Given the description of an element on the screen output the (x, y) to click on. 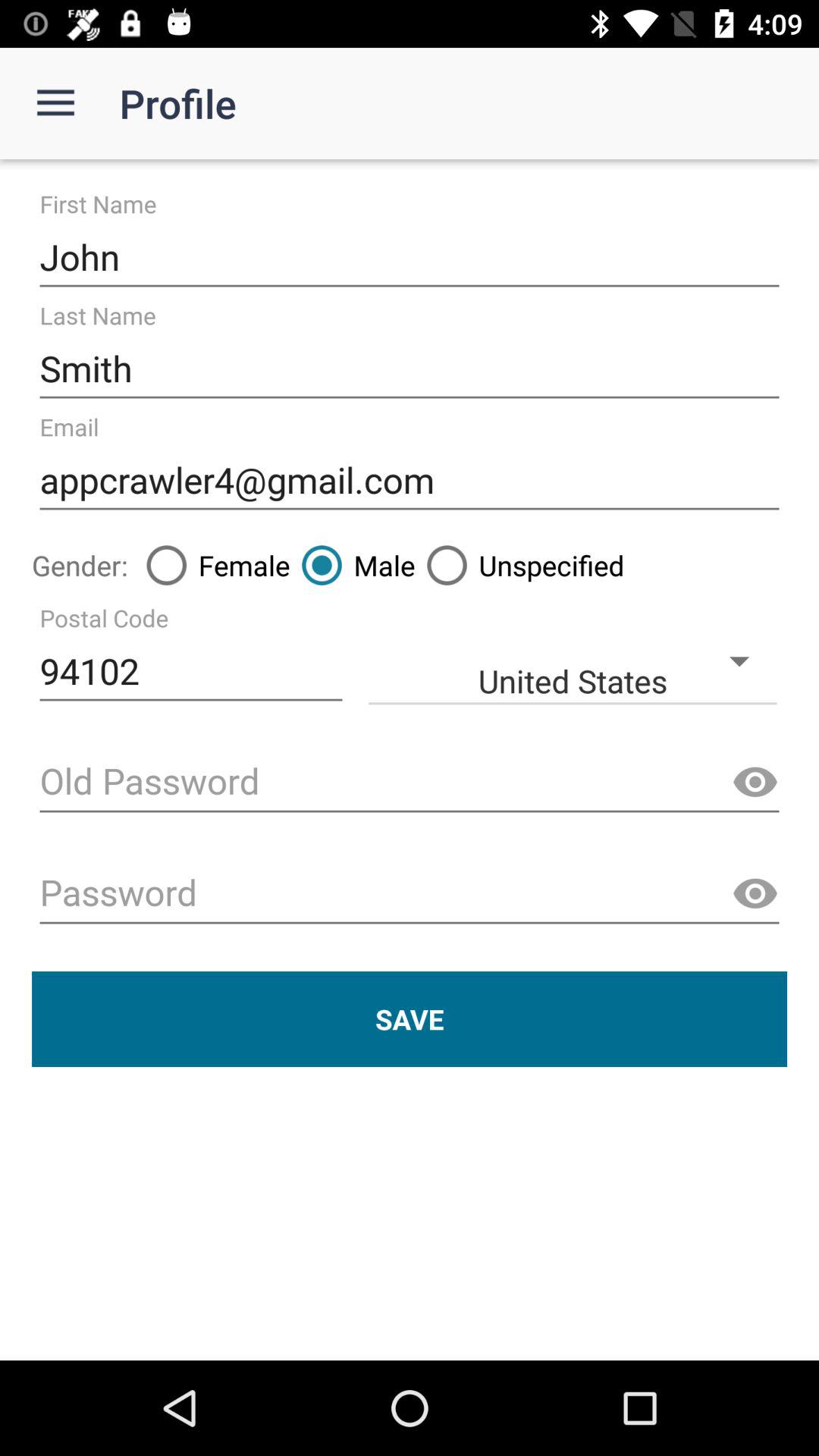
tap the icon next to female (352, 565)
